Given the description of an element on the screen output the (x, y) to click on. 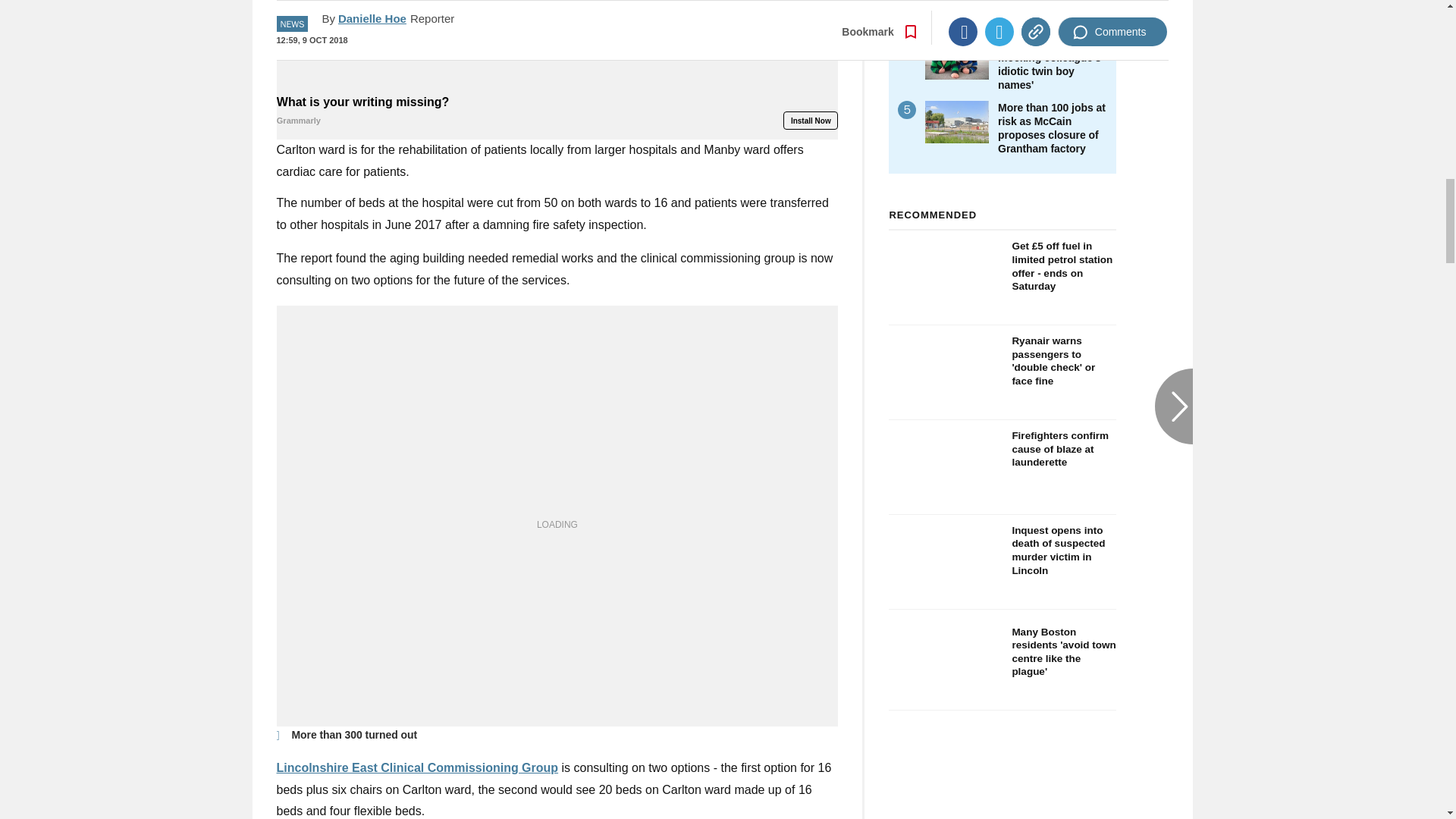
What is your writing missing? (557, 111)
